Given the description of an element on the screen output the (x, y) to click on. 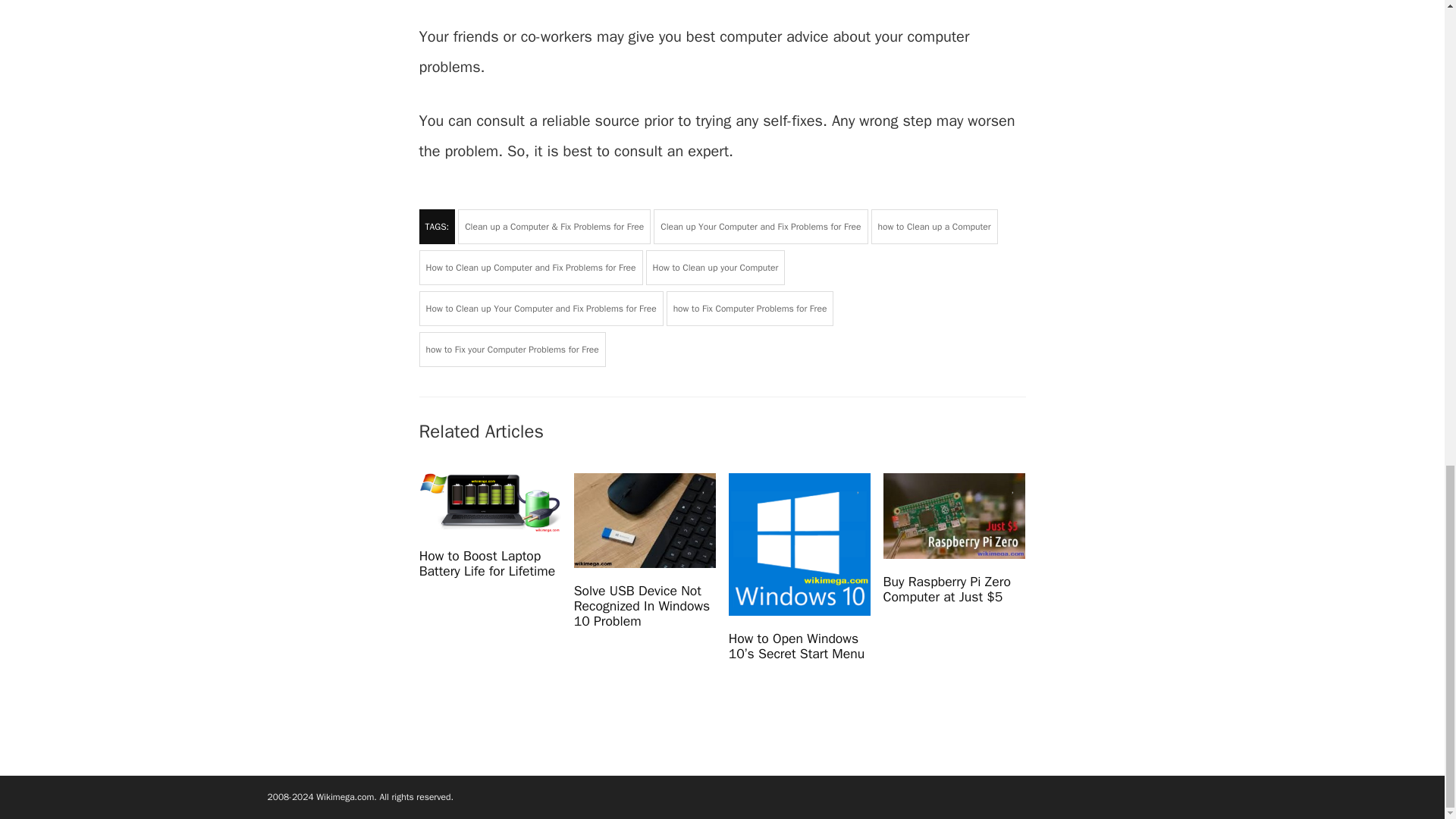
How to Clean up Your Computer and Fix Problems for Free (540, 308)
How to Clean up Computer and Fix Problems for Free (530, 267)
Solve USB Device Not Recognized In Windows 10 Problem (641, 605)
How to Boost Laptop Battery Life for Lifetime (487, 563)
Clean up Your Computer and Fix Problems for Free (760, 226)
How to Clean up your Computer (716, 267)
how to Clean up a Computer (933, 226)
how to Fix Computer Problems for Free (750, 308)
how to Fix your Computer Problems for Free (512, 349)
